Given the description of an element on the screen output the (x, y) to click on. 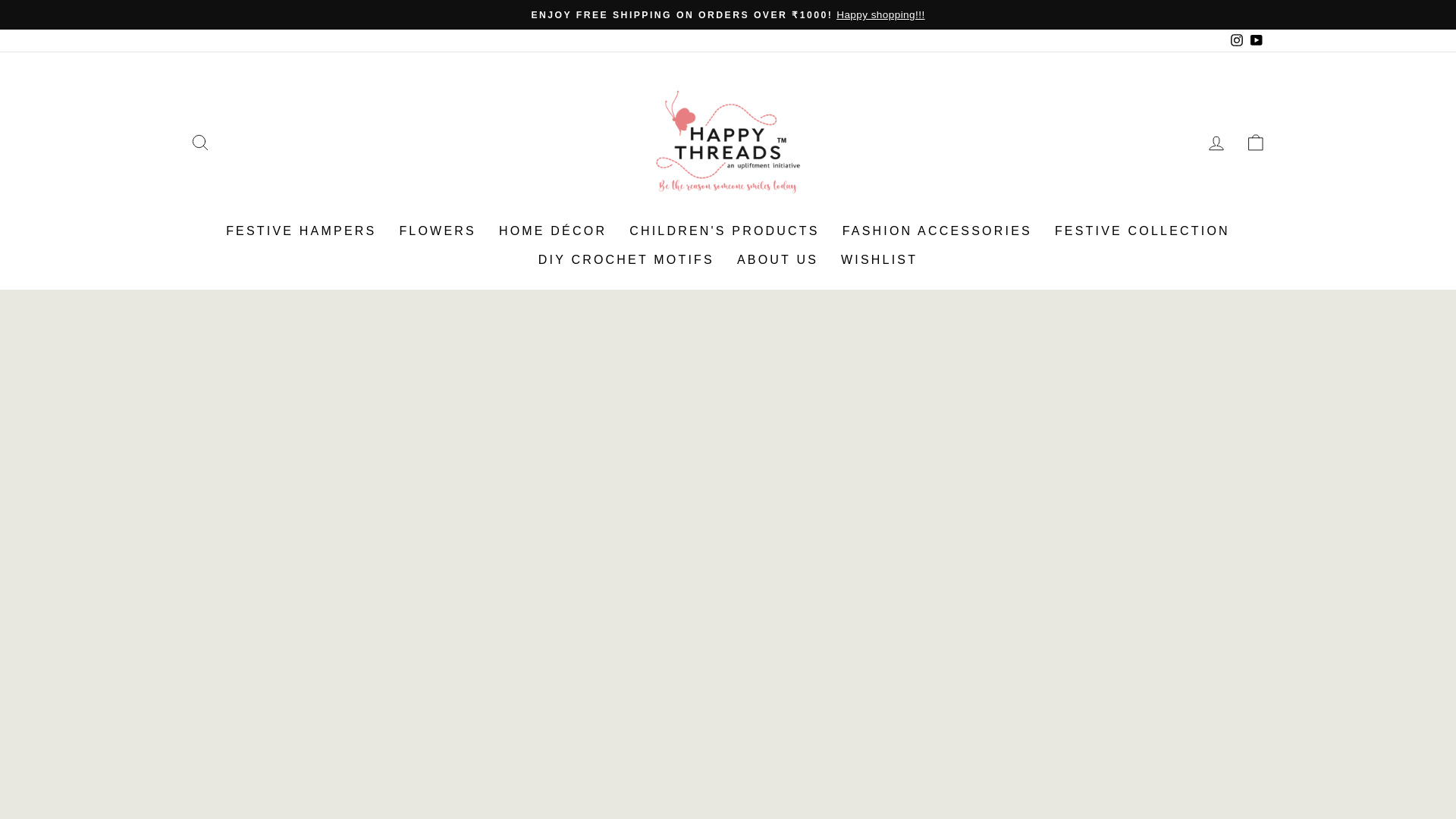
HAPPY THREADS on Instagram (1236, 40)
HAPPY THREADS on YouTube (1256, 40)
